Given the description of an element on the screen output the (x, y) to click on. 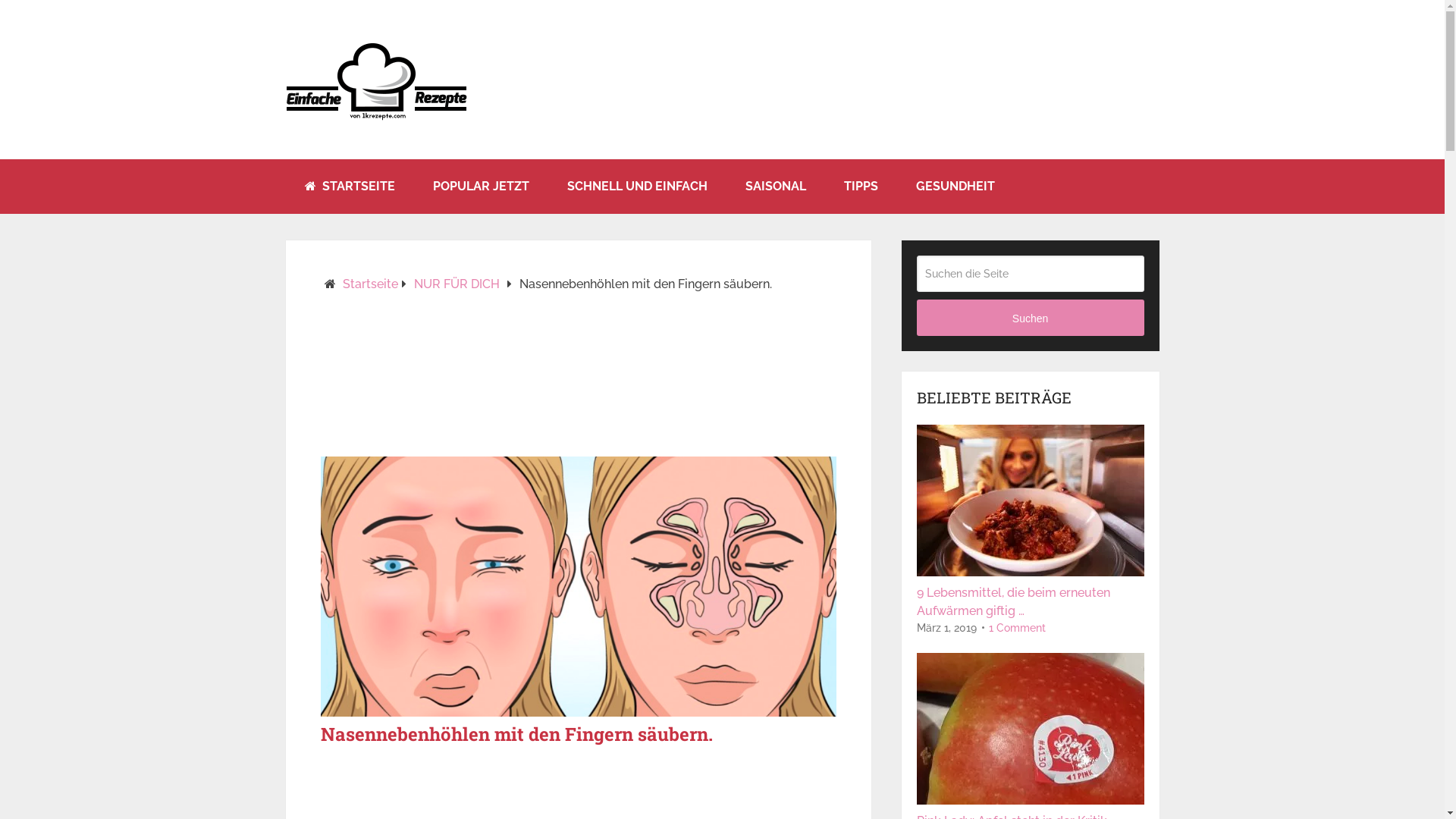
STARTSEITE Element type: text (349, 186)
TIPPS Element type: text (861, 186)
GESUNDHEIT Element type: text (954, 186)
Suchen Element type: text (1030, 317)
SCHNELL UND EINFACH Element type: text (636, 186)
Startseite Element type: text (370, 283)
SAISONAL Element type: text (775, 186)
Advertisement Element type: hover (577, 380)
POPULAR JETZT Element type: text (481, 186)
